Given the description of an element on the screen output the (x, y) to click on. 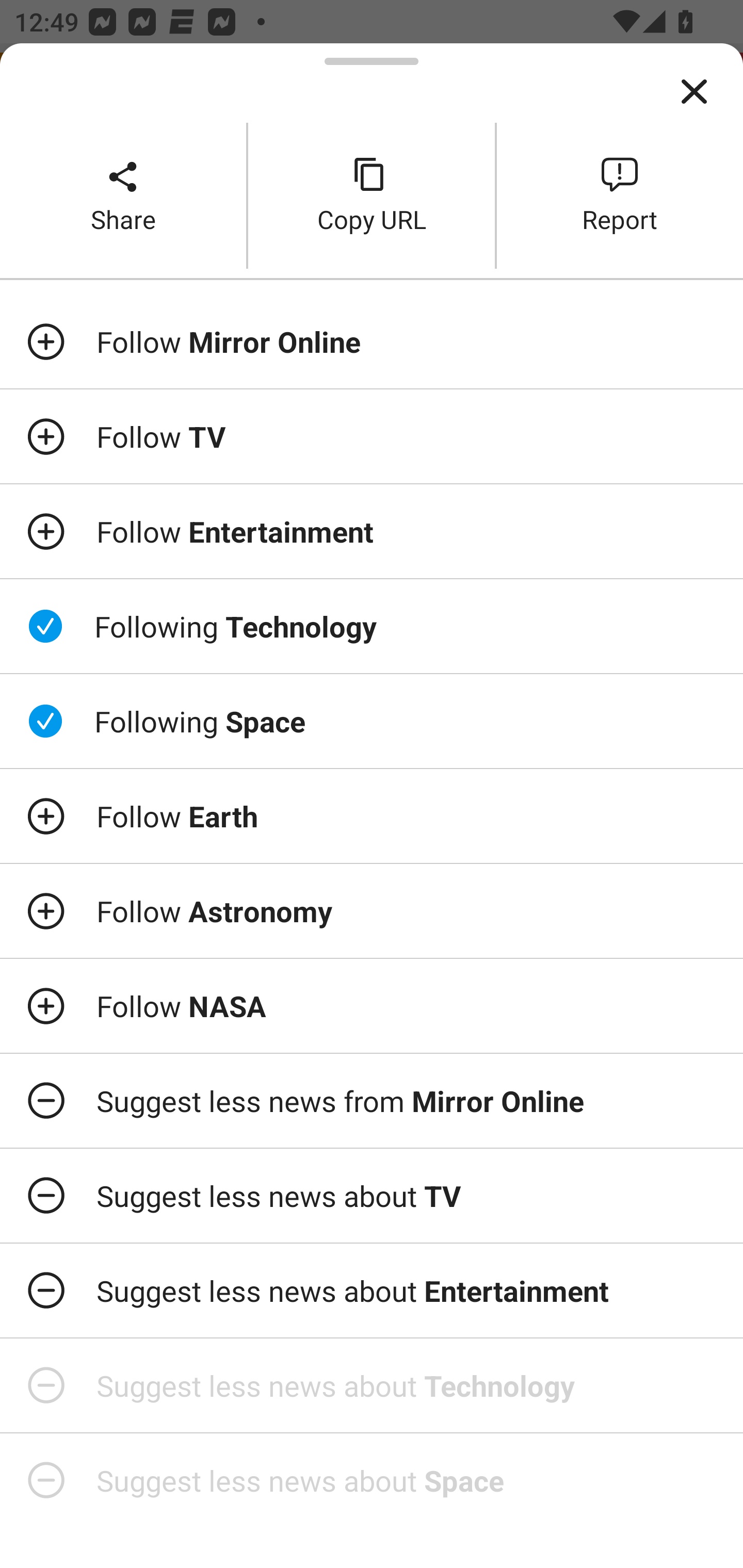
Close (694, 91)
Share (122, 195)
Copy URL (371, 195)
Report (620, 195)
Follow Mirror Online (371, 341)
Follow TV (371, 435)
Follow Entertainment (371, 531)
Following Technology (371, 625)
Following Space (371, 721)
Follow Earth (371, 815)
Follow Astronomy (371, 910)
Follow NASA (371, 1005)
Suggest less news from Mirror Online (371, 1100)
Suggest less news about TV (371, 1195)
Suggest less news about Entertainment (371, 1290)
